Given the description of an element on the screen output the (x, y) to click on. 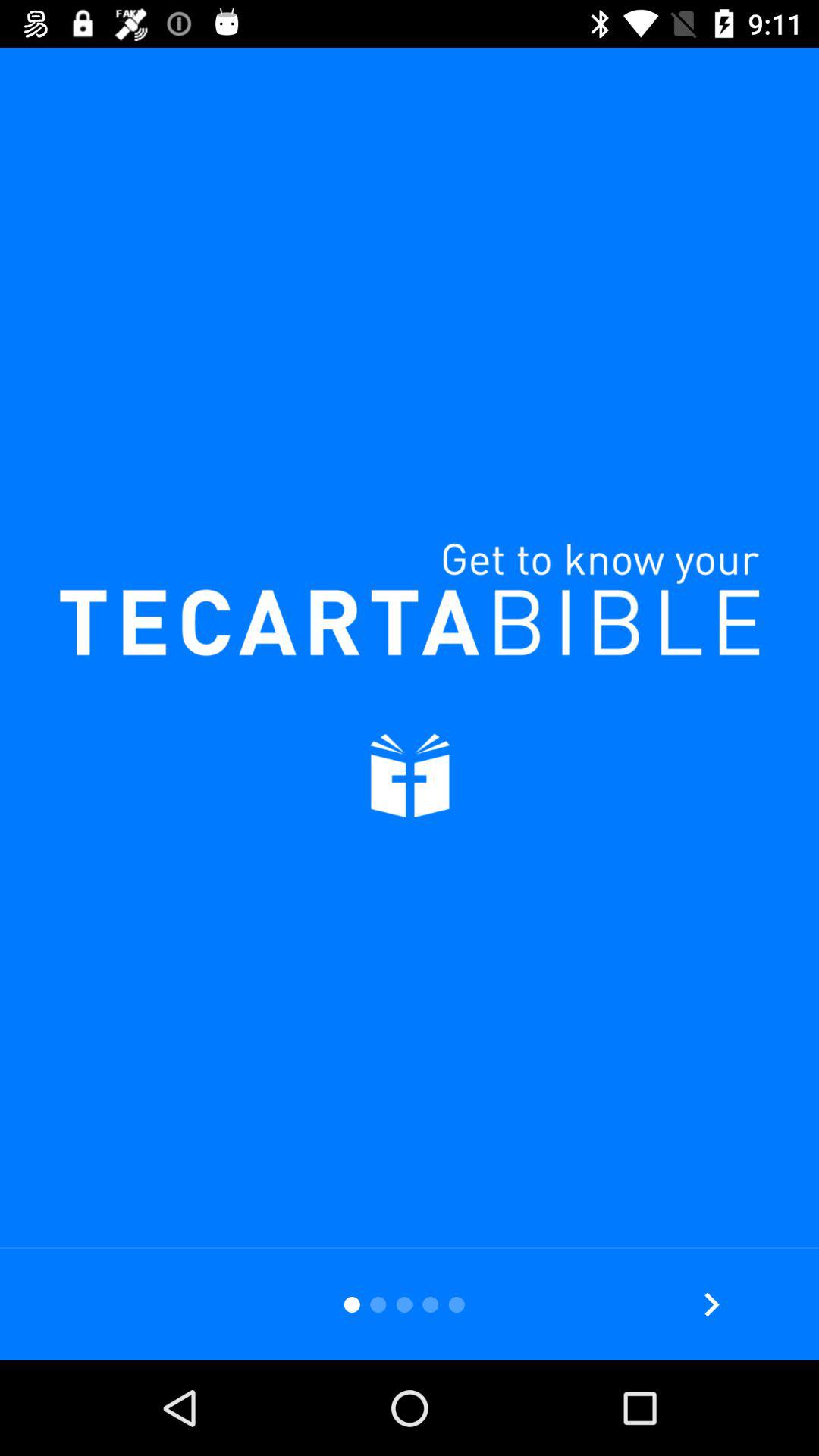
go to next page (711, 1304)
